Given the description of an element on the screen output the (x, y) to click on. 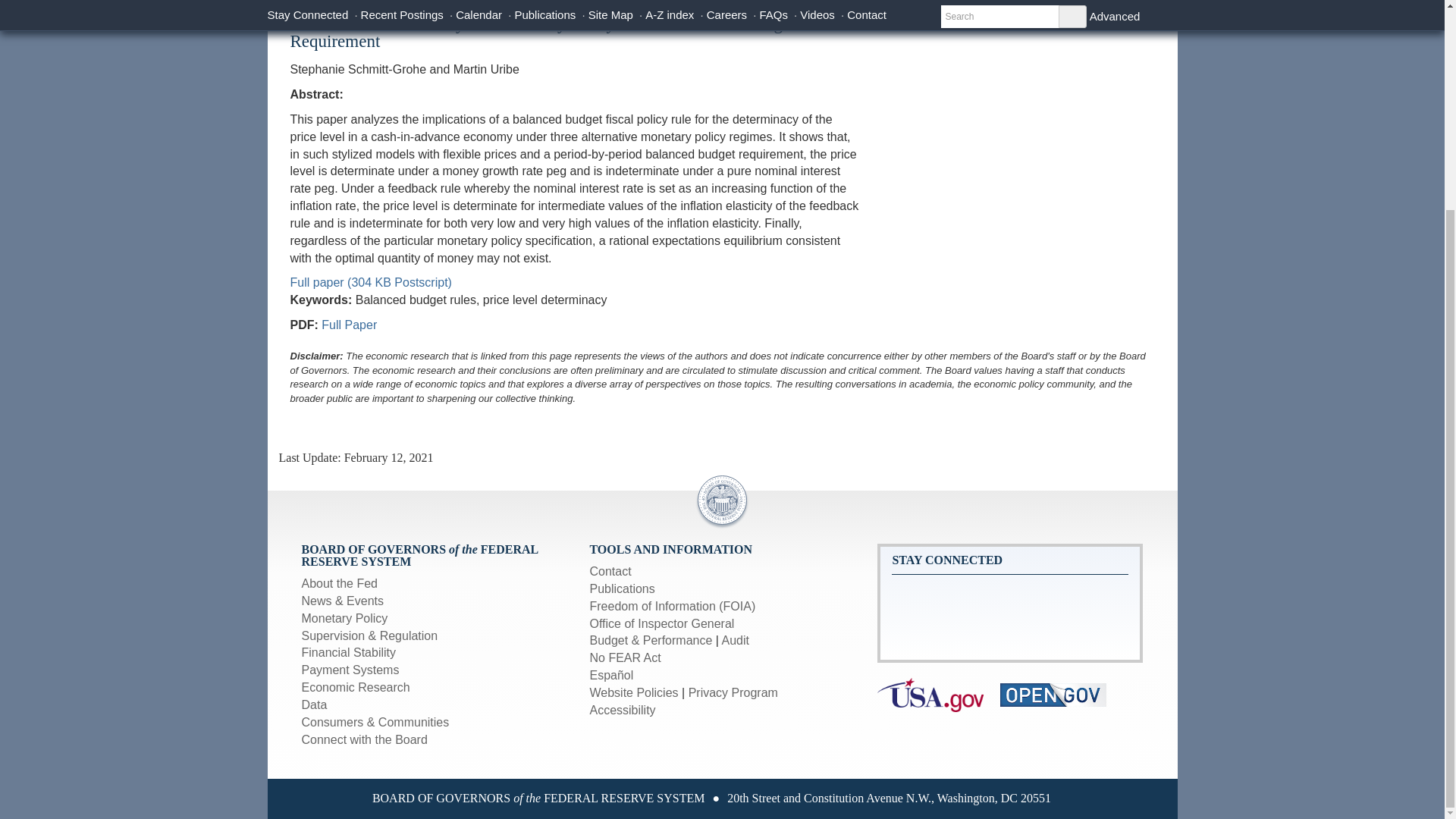
Link to USA.gov (938, 694)
Link to Open.gov (1059, 694)
